Given the description of an element on the screen output the (x, y) to click on. 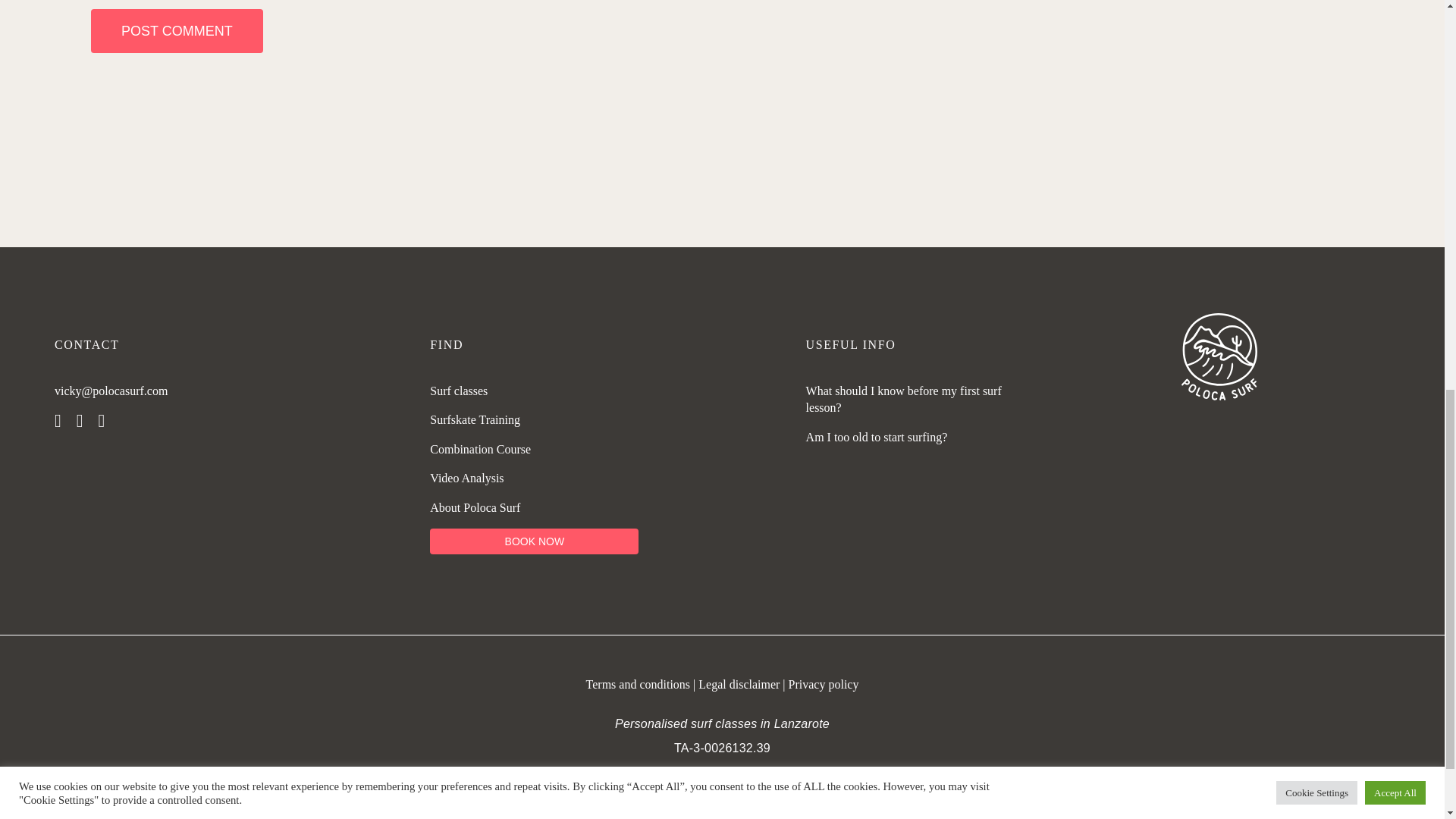
What should I know before my first surf lesson? (903, 399)
BOOK NOW (534, 541)
Post Comment (176, 31)
Post Comment (176, 31)
Helen Browne (147, 810)
Surf classes (458, 390)
Video Analysis (466, 477)
Surfskate Training (474, 419)
Combination Course (480, 449)
About Poloca Surf (474, 507)
Am I too old to start surfing? (876, 436)
Terms and conditions (640, 684)
